Given the description of an element on the screen output the (x, y) to click on. 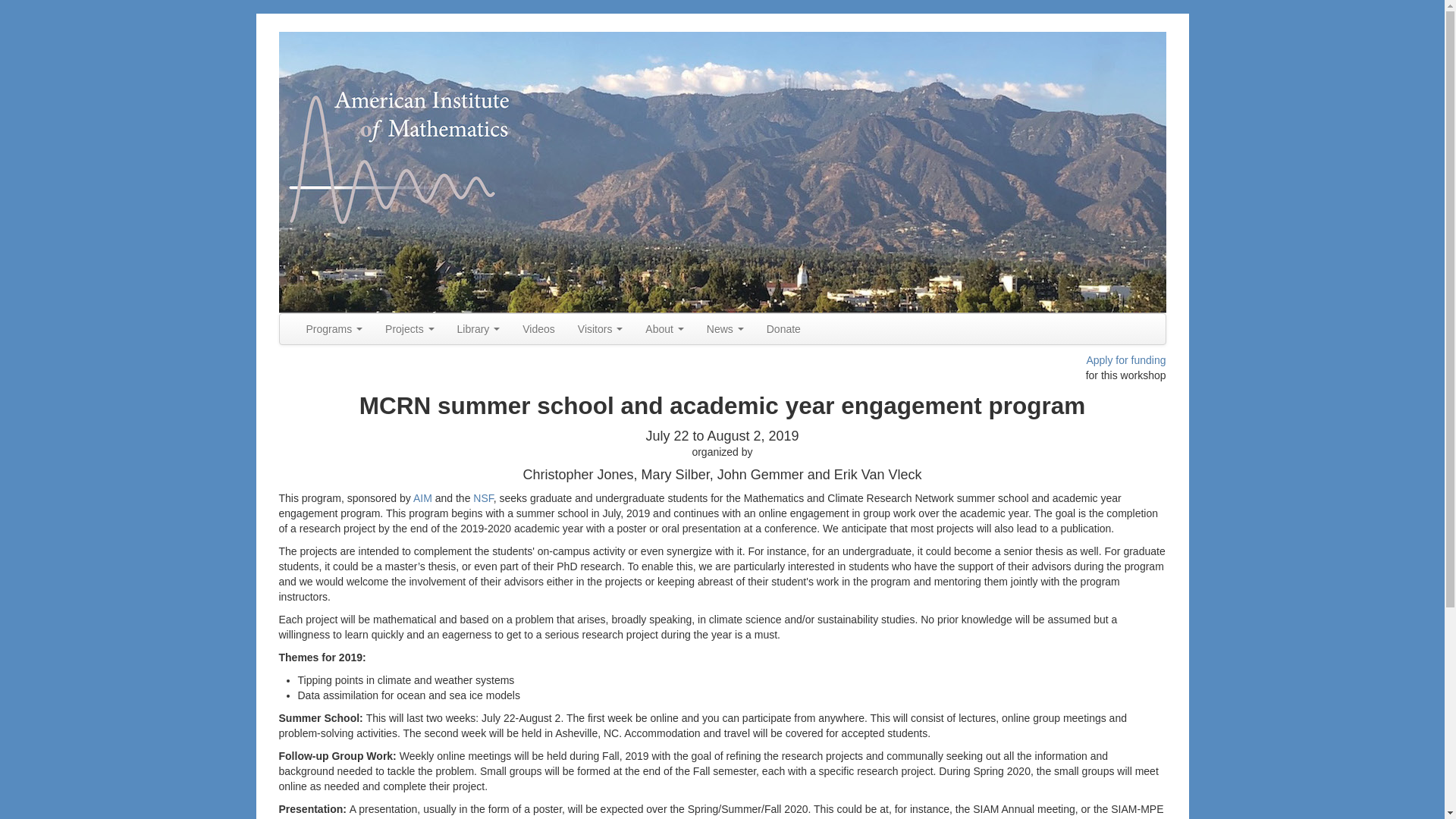
Skip to secondary content (340, 320)
Programs (334, 328)
Skip to secondary content (340, 320)
Skip to primary content (333, 320)
Videos (538, 328)
Library (478, 328)
Skip to primary content (333, 320)
About (663, 328)
Projects (409, 328)
Visitors (600, 328)
